Given the description of an element on the screen output the (x, y) to click on. 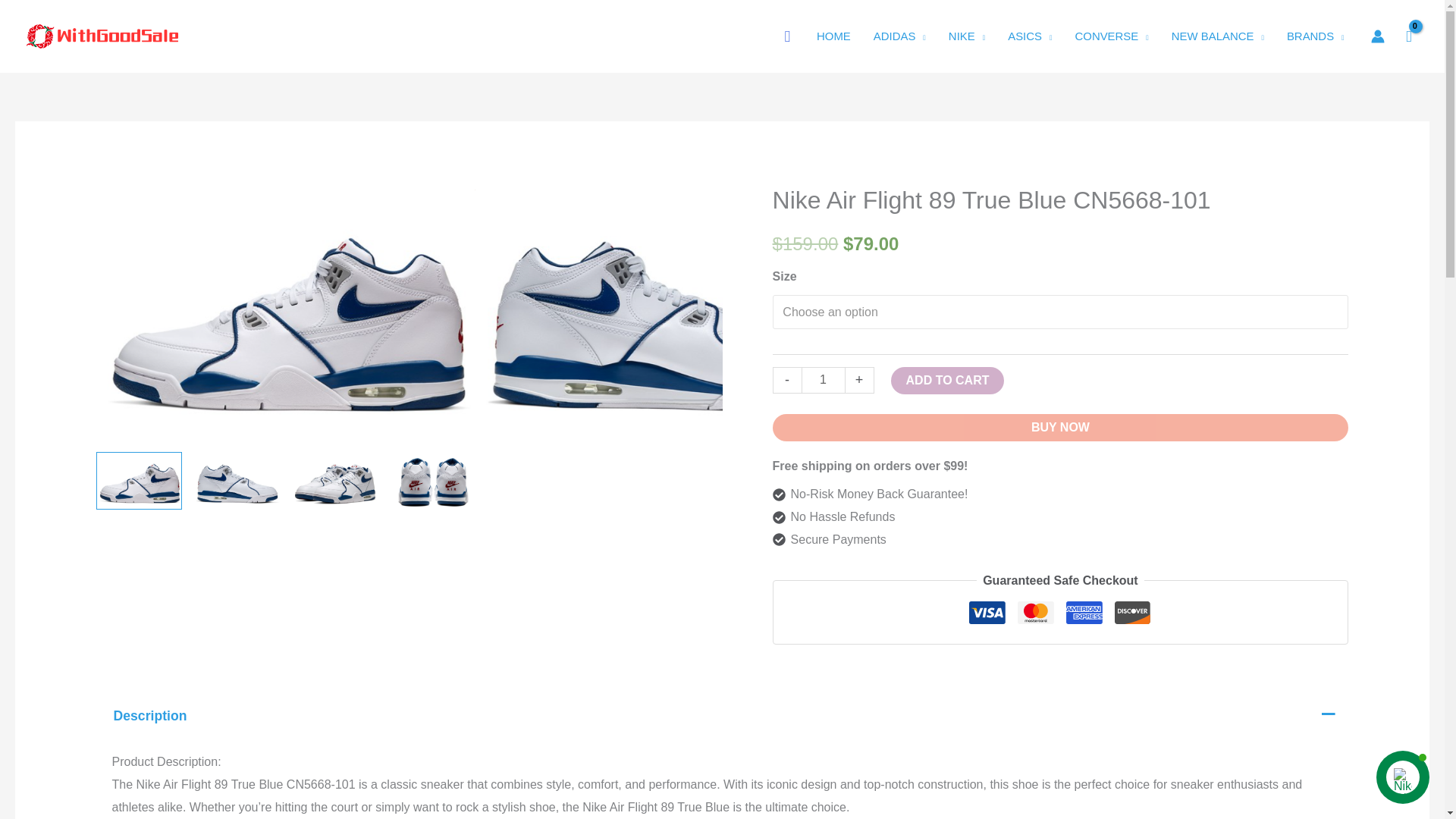
1 (823, 379)
ADIDAS (899, 36)
HOME (833, 36)
Search (787, 36)
